Given the description of an element on the screen output the (x, y) to click on. 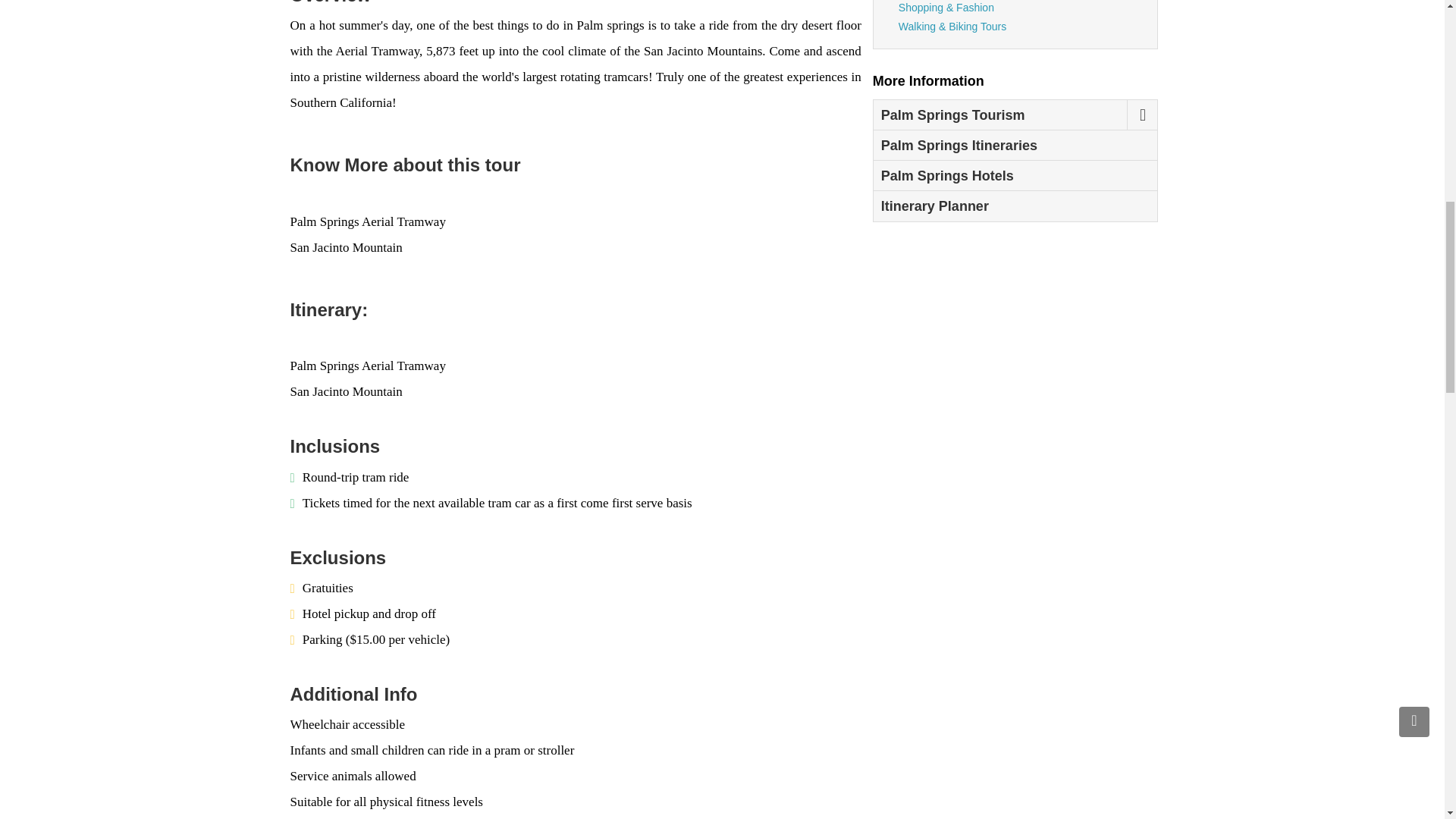
Palm Springs Tourism (999, 114)
Palm Springs Hotels (1015, 175)
Palm springs (610, 25)
Palm Springs Itineraries (1015, 145)
Palm Springs Tourism (999, 114)
